Given the description of an element on the screen output the (x, y) to click on. 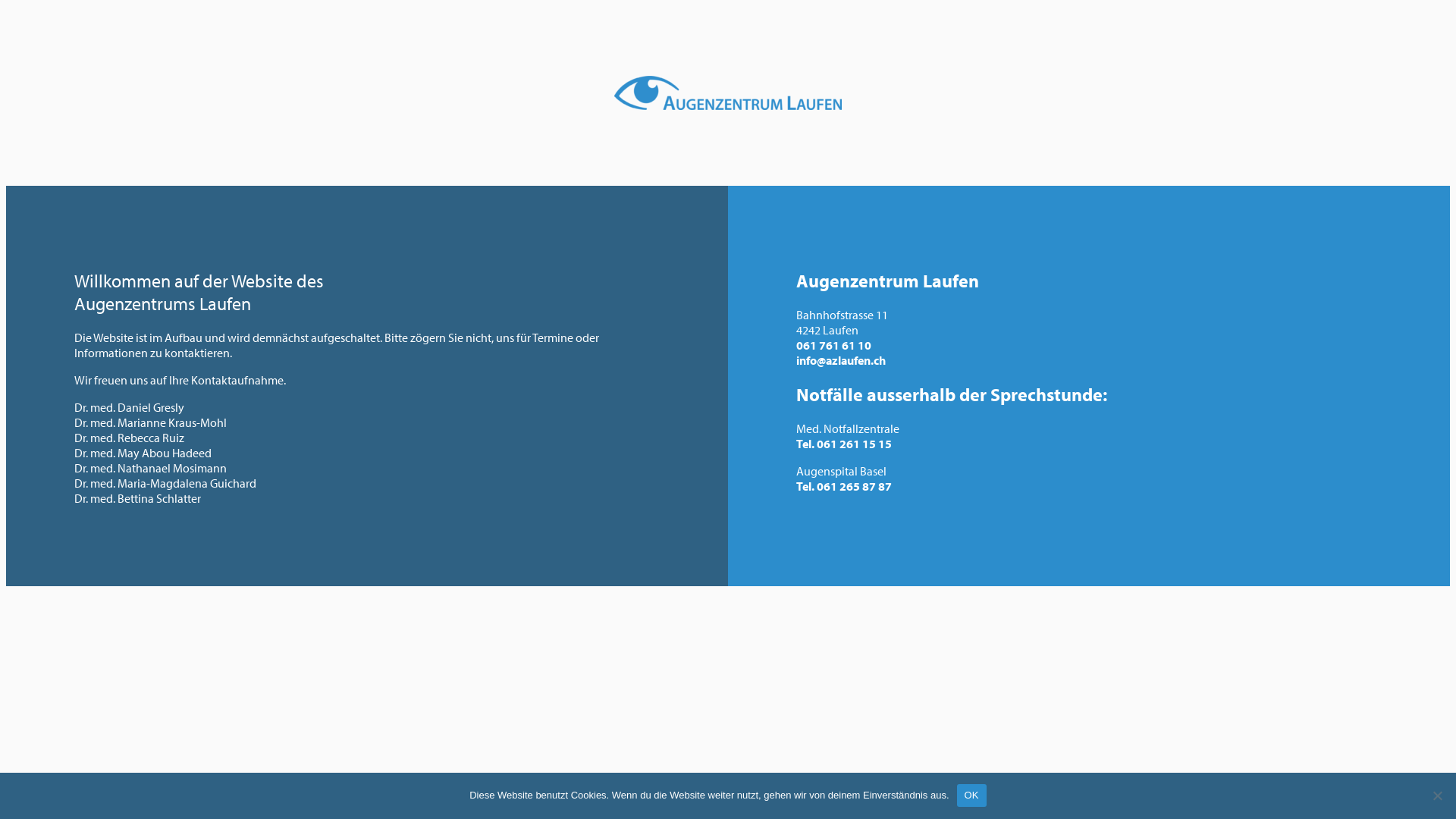
061 761 61 10 Element type: text (833, 344)
Tel. 061 265 87 87 Element type: text (843, 485)
info@azlaufen.ch Element type: text (840, 359)
Nein Element type: hover (1436, 795)
Tel. 061 261 15 15 Element type: text (843, 443)
OK Element type: text (971, 795)
